Given the description of an element on the screen output the (x, y) to click on. 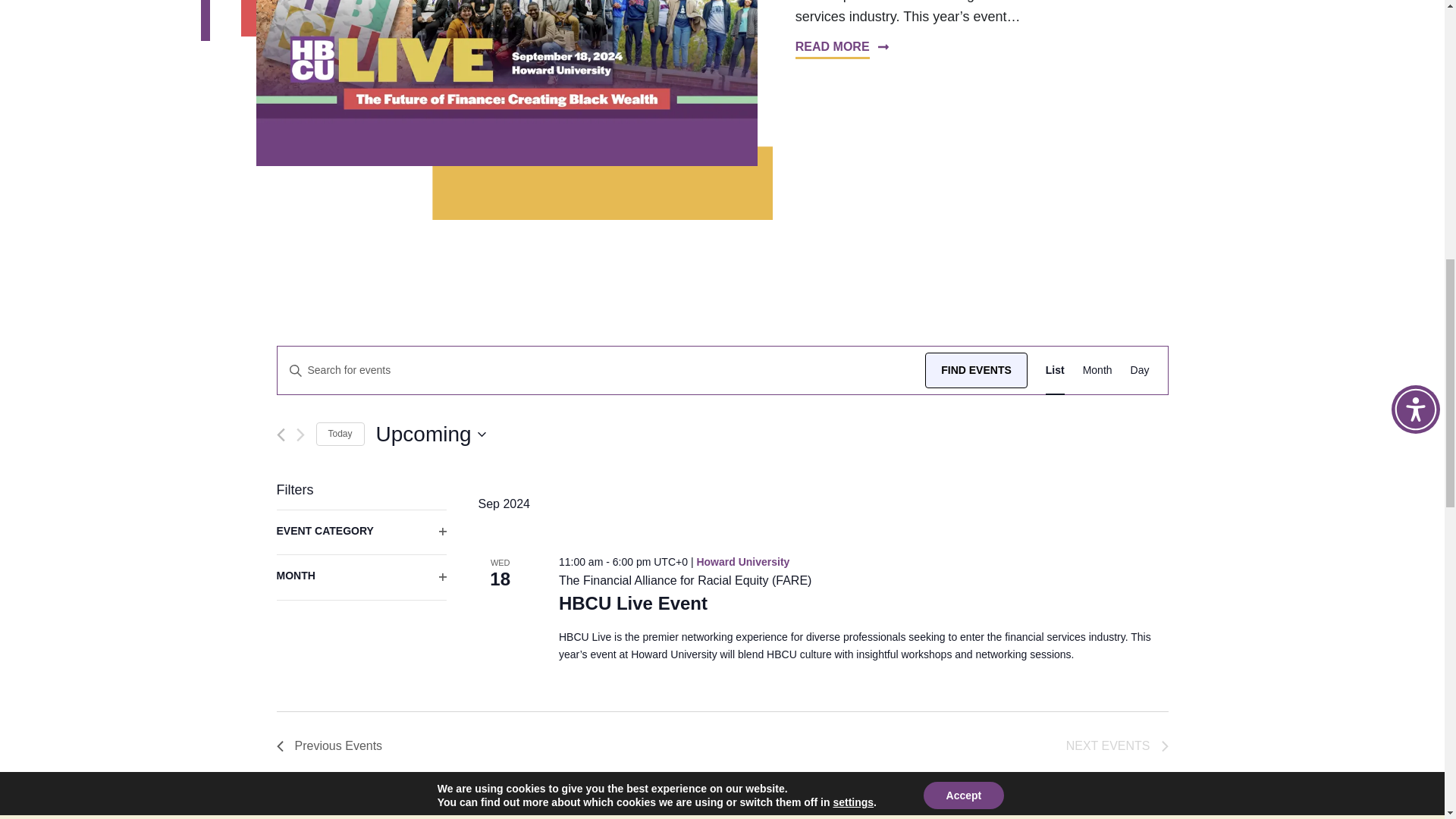
Today (339, 433)
Previous Events (328, 745)
Next Events (1117, 745)
HBCU Live Event (633, 603)
Click to toggle datepicker (430, 434)
READ MORE (841, 47)
Click to select today's date (339, 433)
FIND EVENTS (975, 370)
